Given the description of an element on the screen output the (x, y) to click on. 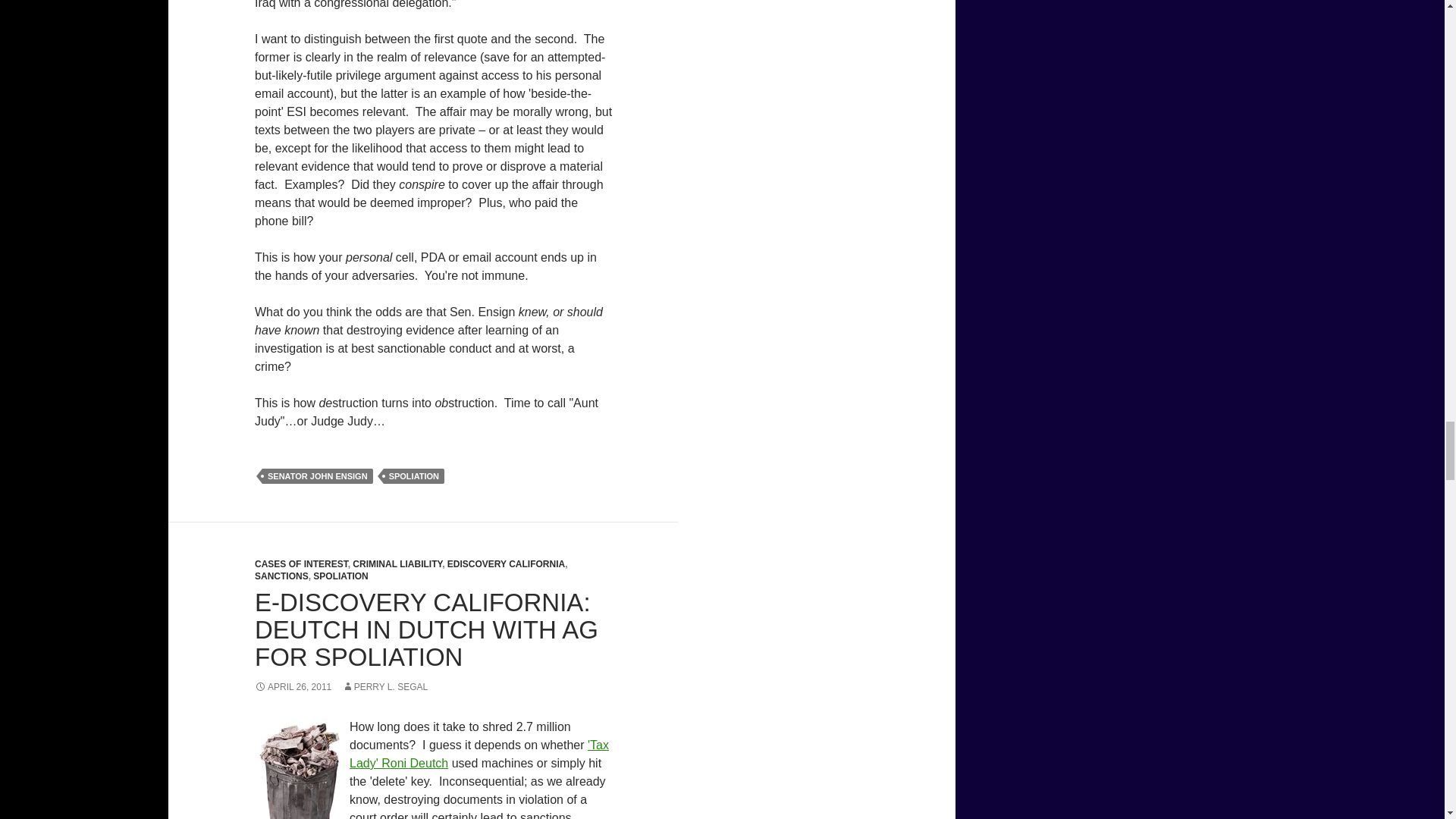
MP900314122 (300, 768)
